Given the description of an element on the screen output the (x, y) to click on. 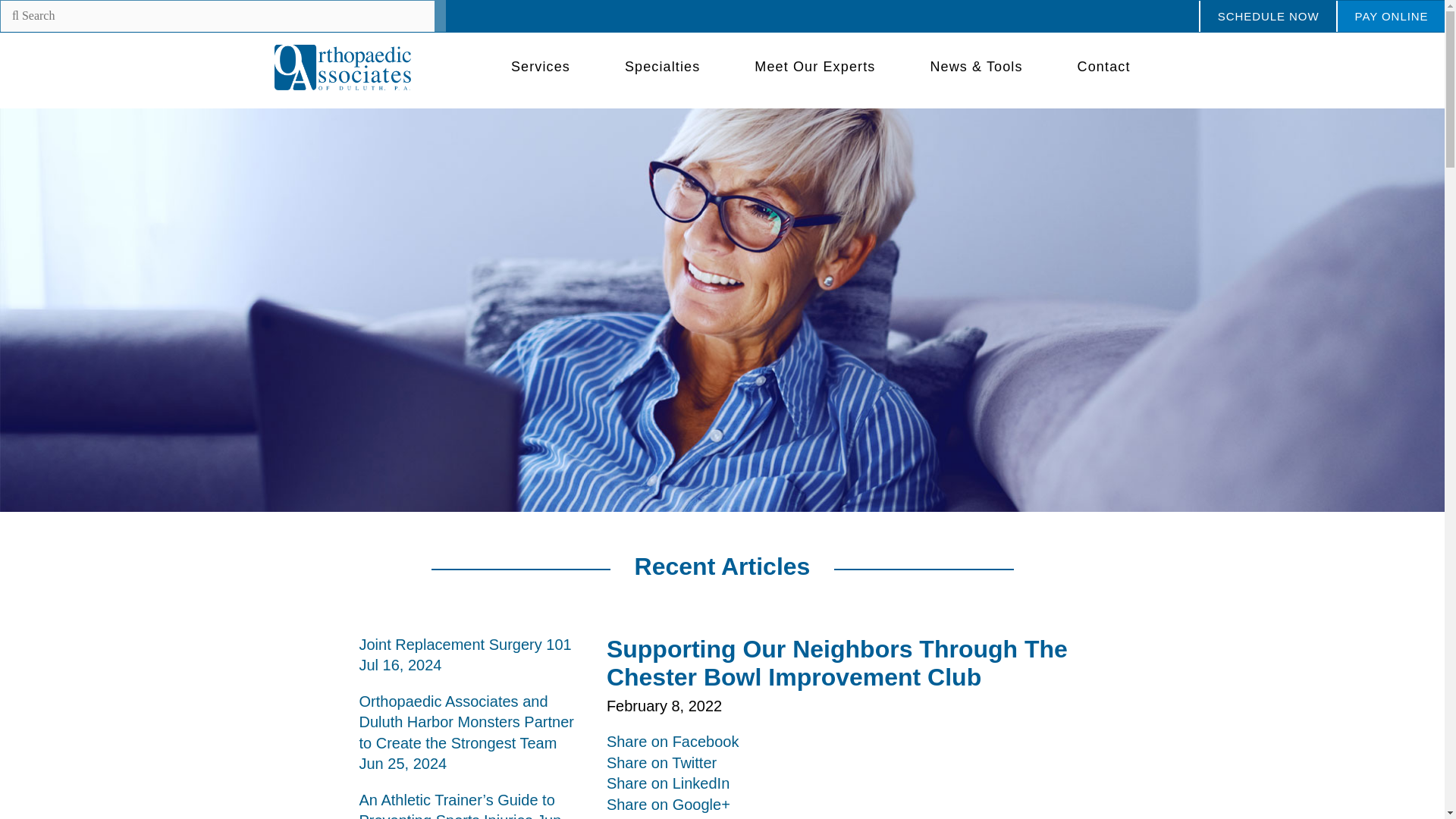
Contact (1104, 66)
Specialties (662, 66)
SCHEDULE NOW (1267, 15)
Services (540, 66)
Meet Our Experts (814, 66)
